Given the description of an element on the screen output the (x, y) to click on. 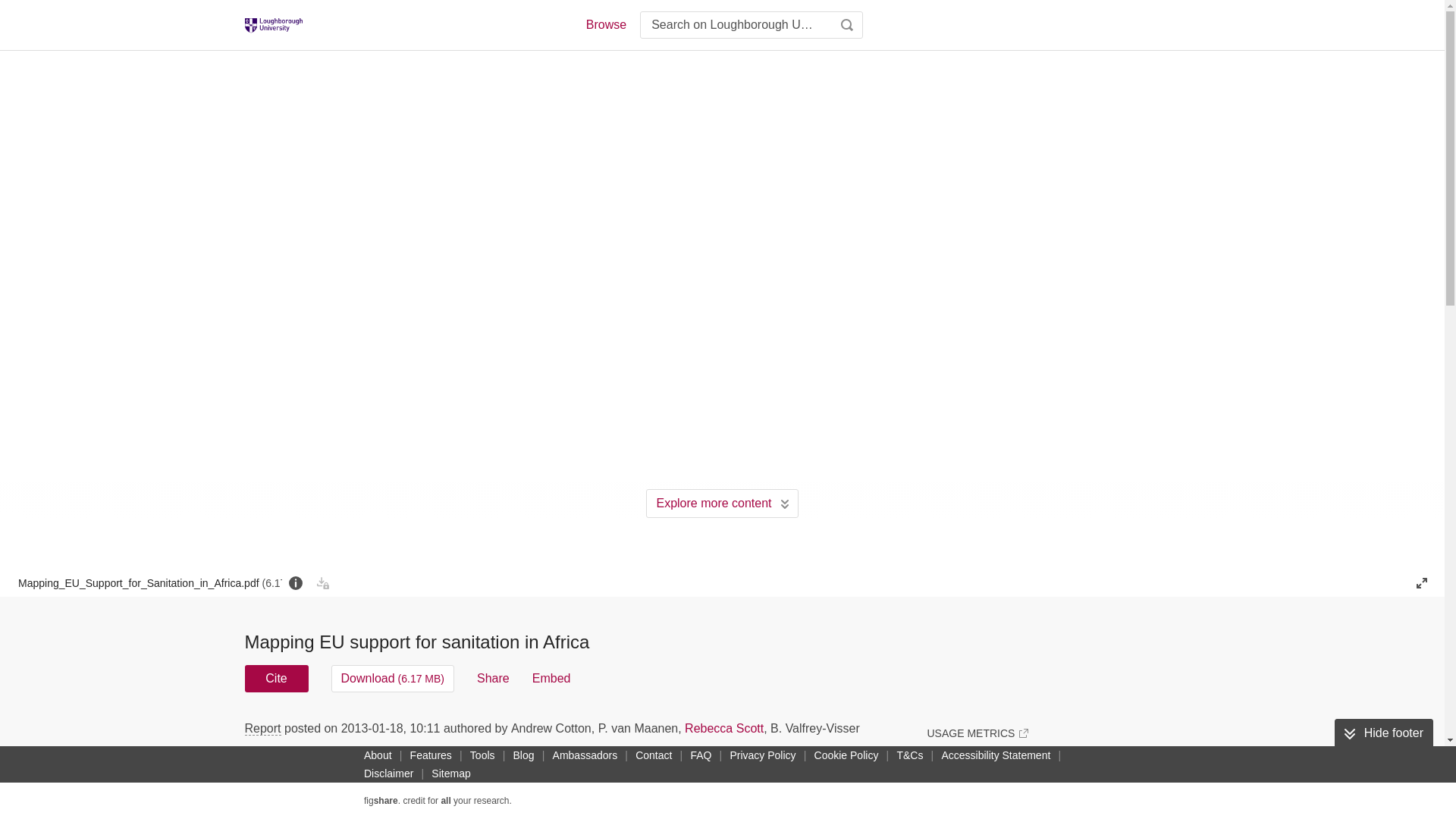
Privacy Policy (762, 755)
Accessibility Statement (995, 755)
Cite (275, 678)
Contact (653, 755)
Ambassadors (585, 755)
FAQ (700, 755)
Blog (523, 755)
Share (493, 678)
Explore more content (721, 502)
Browse (605, 24)
Tools (482, 755)
Embed (551, 678)
Rebecca Scott (723, 727)
About (377, 755)
